Given the description of an element on the screen output the (x, y) to click on. 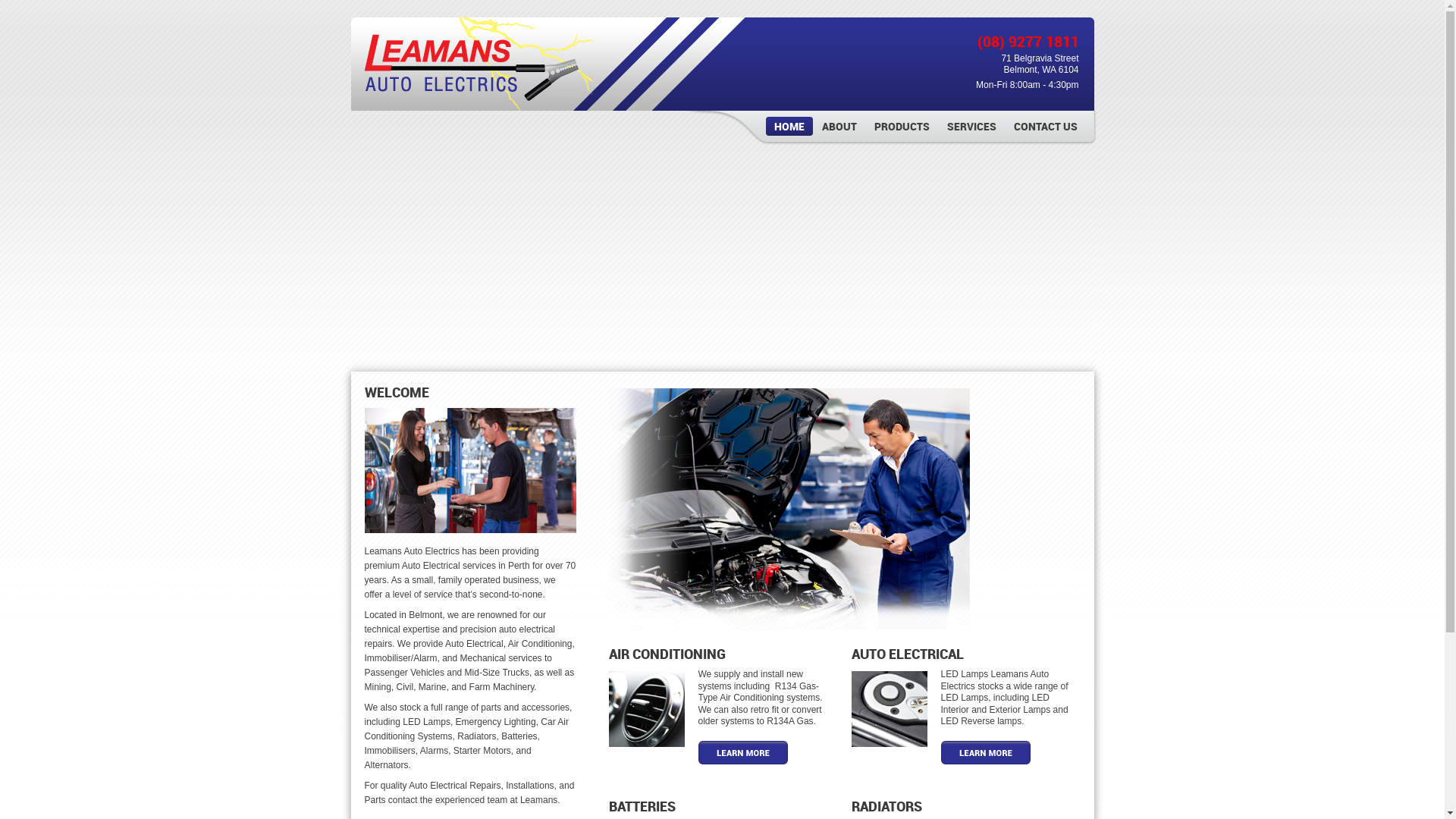
RADIATORS Element type: text (885, 807)
Auto Electrical Element type: hover (888, 708)
Air Conditioning Element type: hover (669, 712)
Auto Electrical Element type: hover (911, 712)
HOME Element type: text (788, 125)
AUTO ELECTRICAL Element type: text (906, 654)
Leamans  Auto Electrics Element type: hover (477, 101)
PRODUCTS Element type: text (902, 125)
AIR CONDITIONING Element type: text (666, 654)
Air Conditioning Element type: hover (646, 708)
Leamans  Auto Electrics Element type: hover (477, 63)
BATTERIES Element type: text (641, 807)
ABOUT Element type: text (838, 125)
SERVICES Element type: text (971, 125)
(08) 9277 1811 Element type: text (1027, 42)
CONTACT US Element type: text (1045, 125)
